Given the description of an element on the screen output the (x, y) to click on. 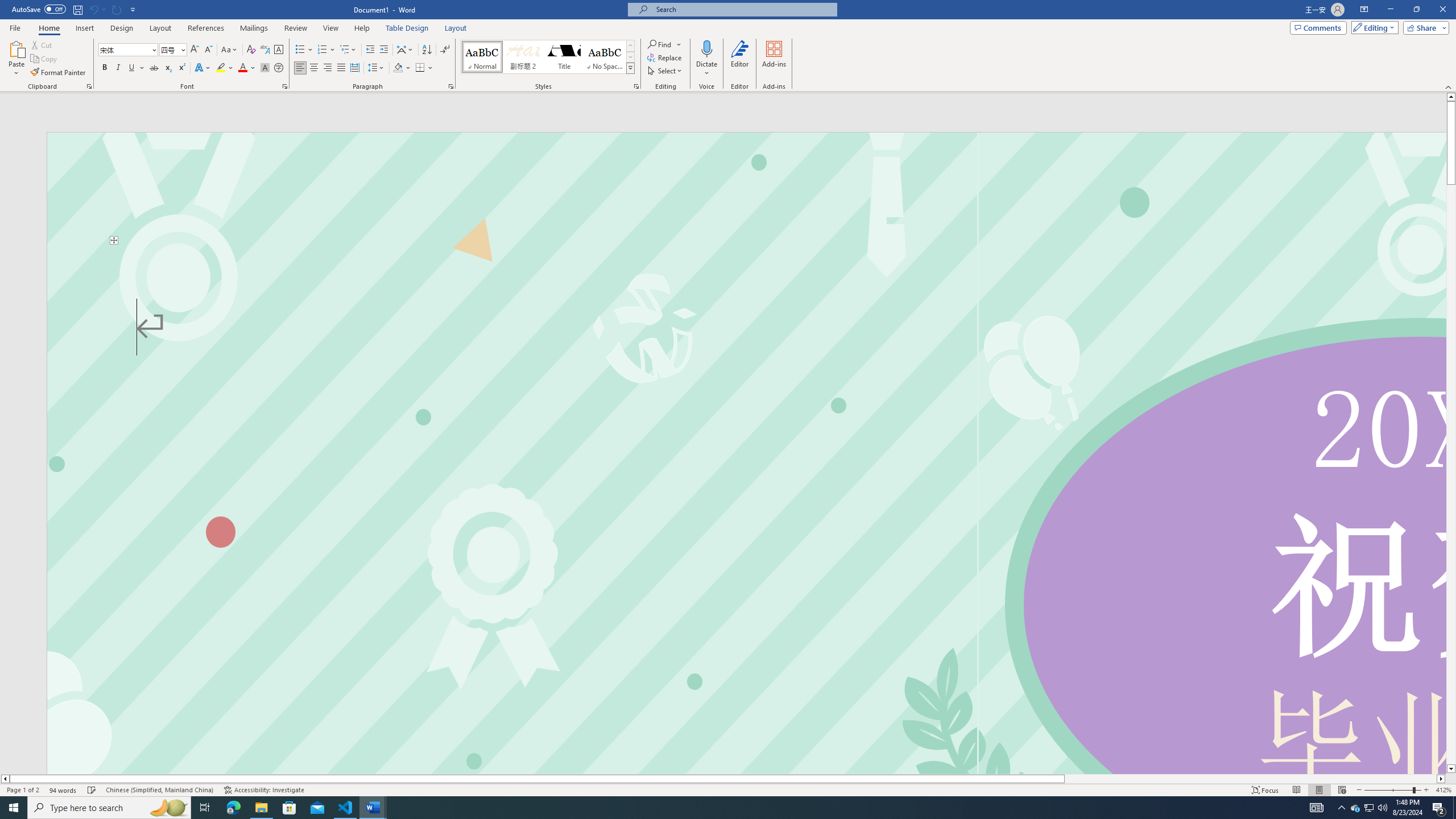
Word Count 94 words (63, 790)
Can't Undo (96, 9)
